Given the description of an element on the screen output the (x, y) to click on. 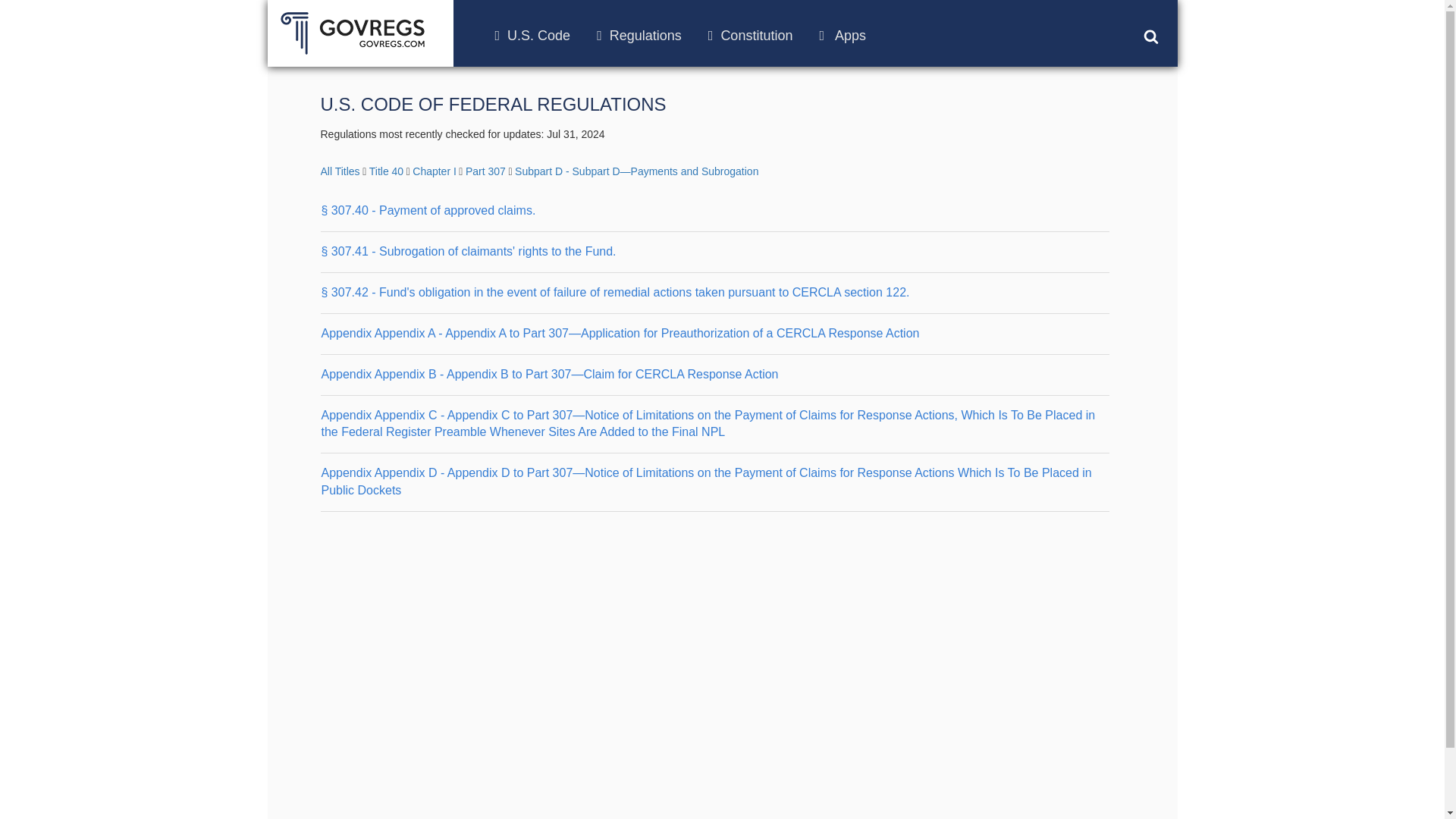
Apps (842, 35)
All Titles (339, 171)
Chapter I (434, 171)
Title 40 (386, 171)
Part 307 (485, 171)
Constitution (750, 35)
Regulations (638, 35)
U.S. Code (532, 35)
